Given the description of an element on the screen output the (x, y) to click on. 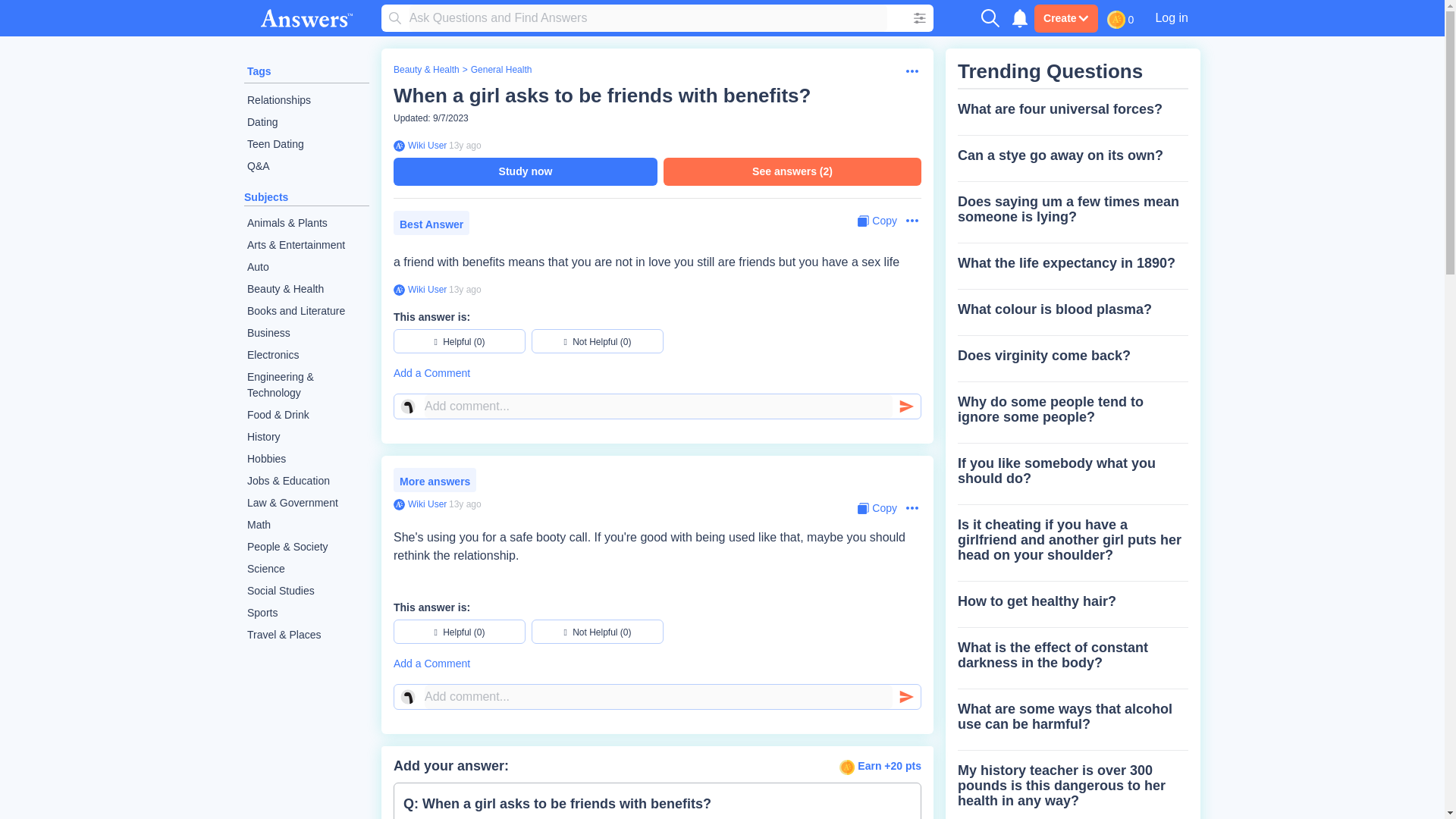
Log in (1170, 17)
Books and Literature (306, 311)
Dating (306, 122)
Tags (258, 70)
Study now (525, 171)
Auto (306, 267)
2011-07-07 19:22:38 (464, 289)
Teen Dating (306, 144)
Copy (876, 220)
Electronics (306, 354)
Relationships (306, 100)
General Health (501, 69)
Hobbies (306, 458)
2010-12-31 09:00:04 (464, 503)
History (306, 436)
